Given the description of an element on the screen output the (x, y) to click on. 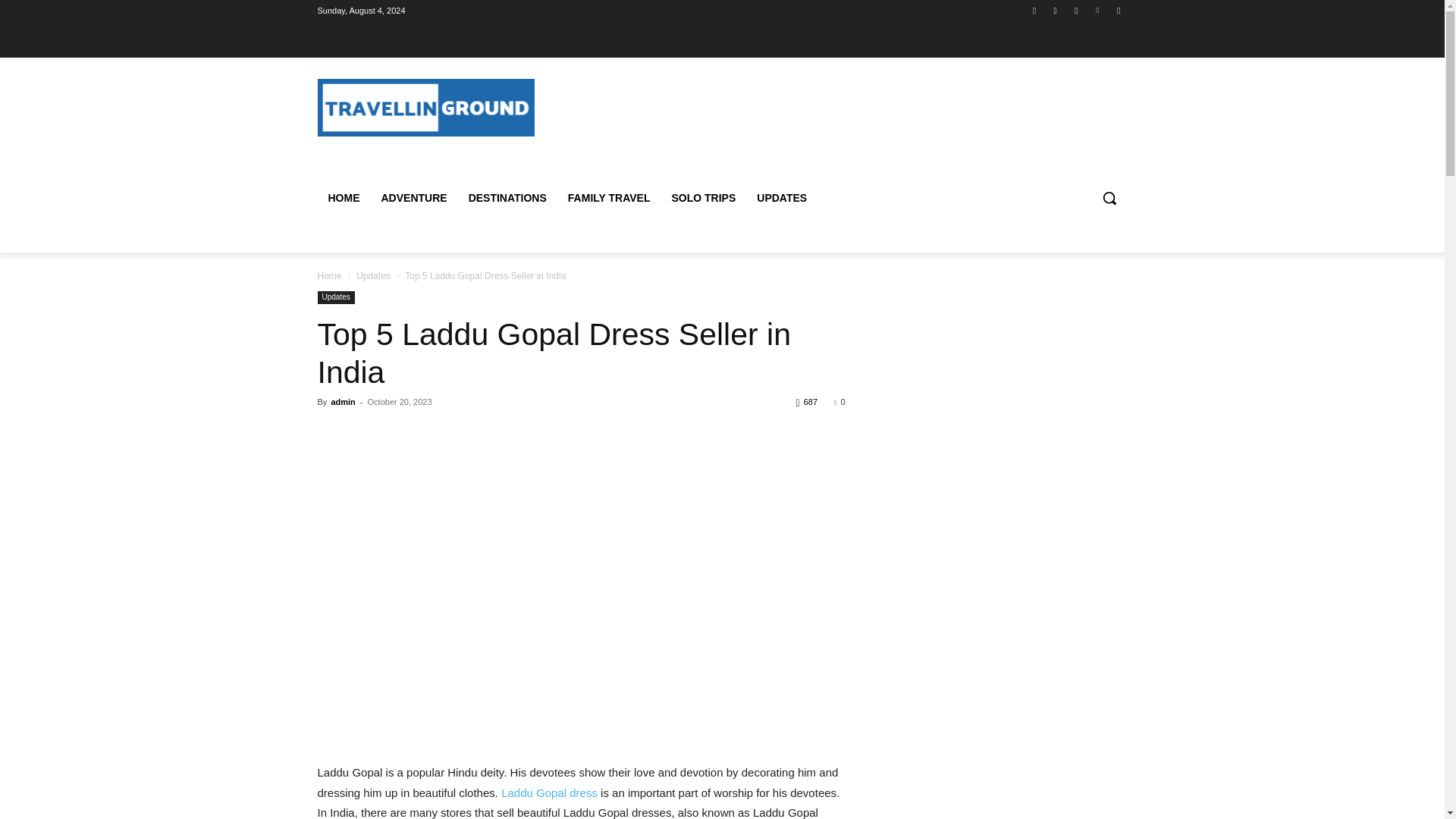
ADVENTURE (413, 197)
Youtube (1117, 9)
Facebook (1034, 9)
Home (328, 276)
Instagram (1055, 9)
Updates (373, 276)
SOLO TRIPS (703, 197)
Laddu Gopal dress (548, 792)
0 (839, 401)
admin (342, 401)
